Given the description of an element on the screen output the (x, y) to click on. 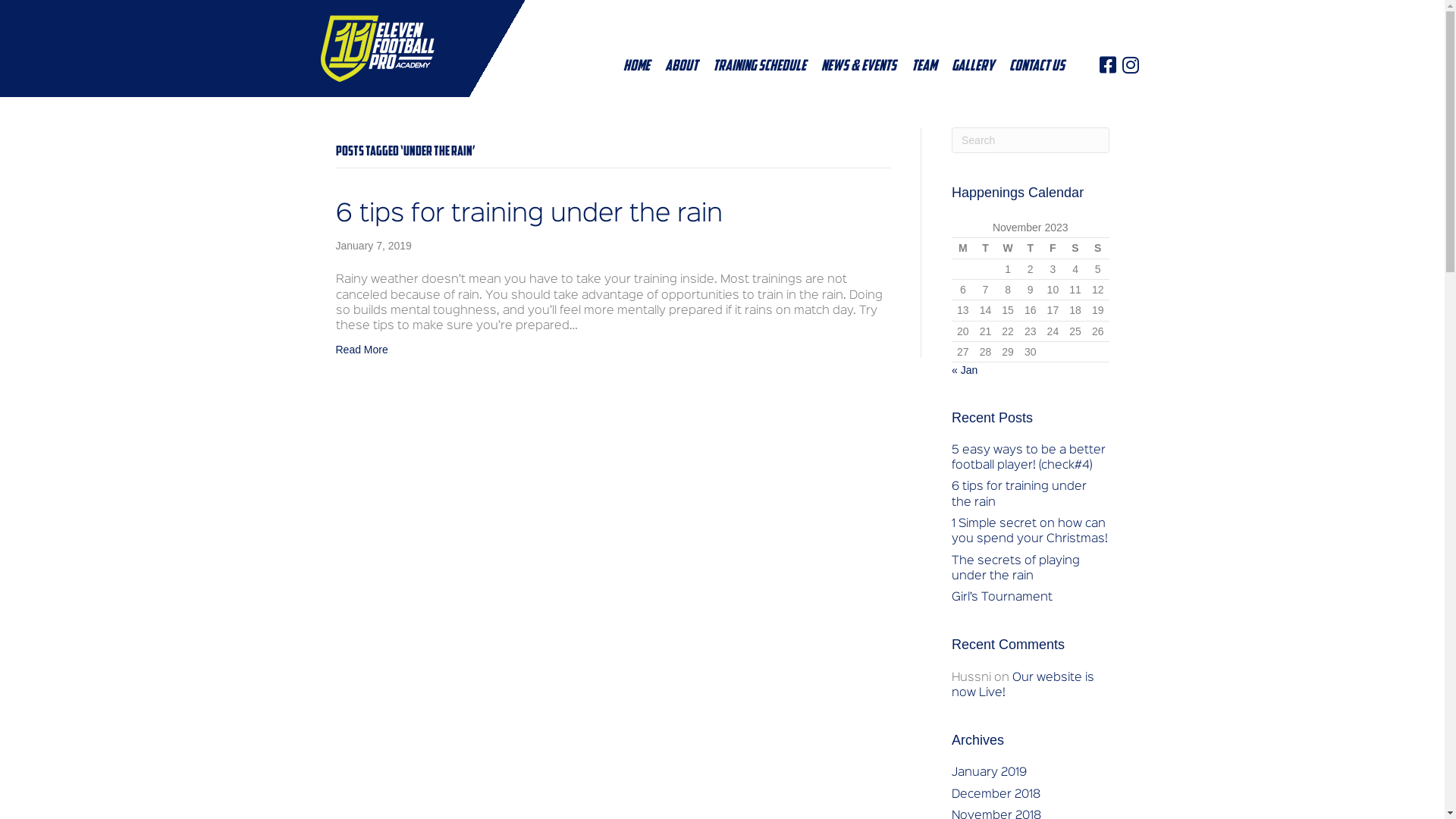
5 easy ways to be a better football player! (check#4) Element type: text (1028, 457)
Our website is now Live! Element type: text (1022, 685)
Read More Element type: text (361, 349)
Gallery Element type: text (972, 66)
6 tips for training under the rain Element type: text (1018, 494)
Asset-3 Element type: hover (376, 48)
About Element type: text (681, 66)
Training Schedule Element type: text (759, 66)
Type and press Enter to search. Element type: hover (1030, 140)
Contact Us Element type: text (1036, 66)
6 tips for training under the rain Element type: text (528, 214)
December 2018 Element type: text (995, 794)
Home Element type: text (636, 66)
Team Element type: text (923, 66)
The secrets of playing under the rain Element type: text (1015, 568)
January 2019 Element type: text (988, 772)
News & Events Element type: text (858, 66)
1 Simple secret on how can you spend your Christmas! Element type: text (1029, 531)
